Given the description of an element on the screen output the (x, y) to click on. 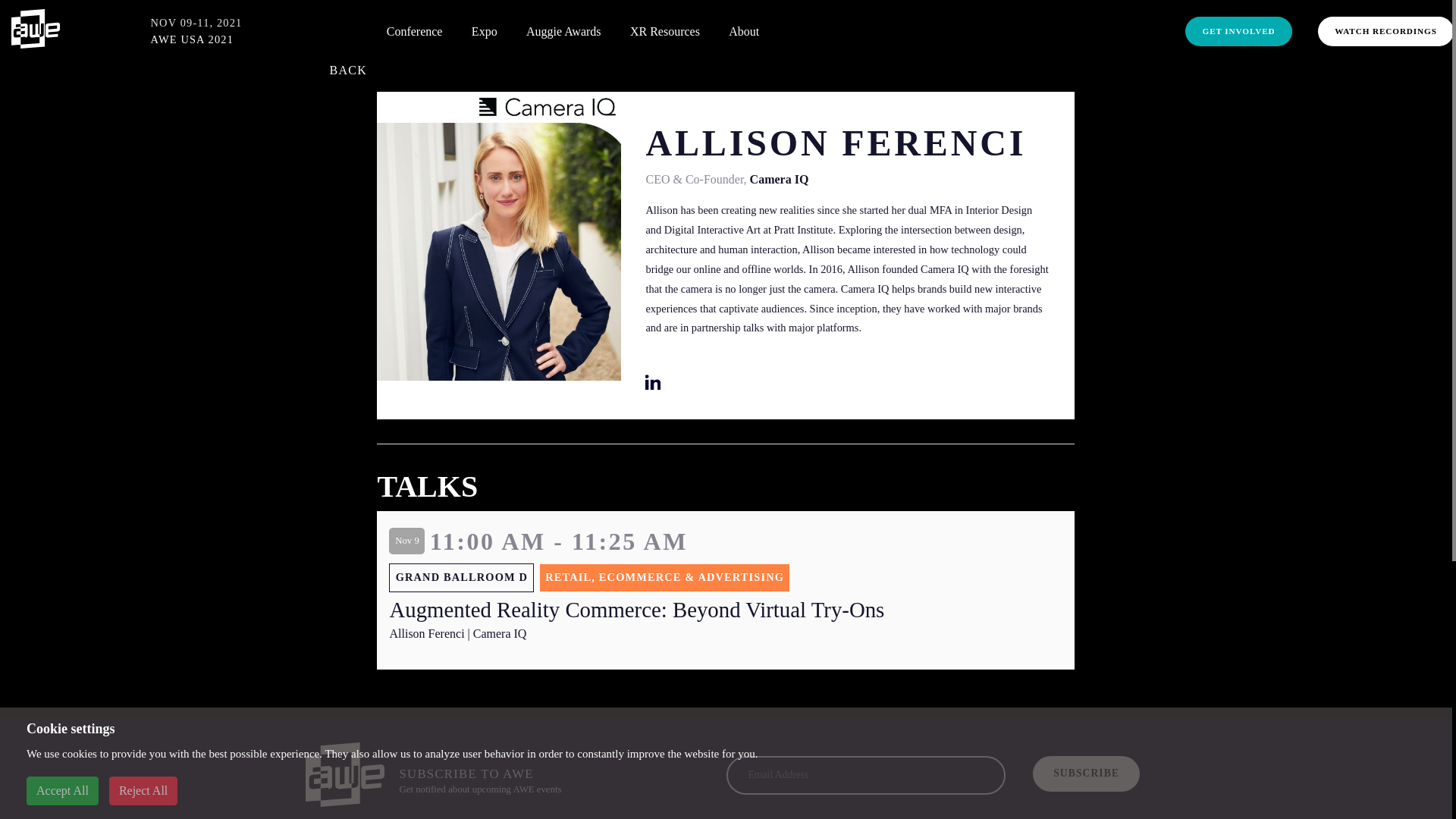
Subscribe (1086, 773)
GET INVOLVED (1238, 30)
